Given the description of an element on the screen output the (x, y) to click on. 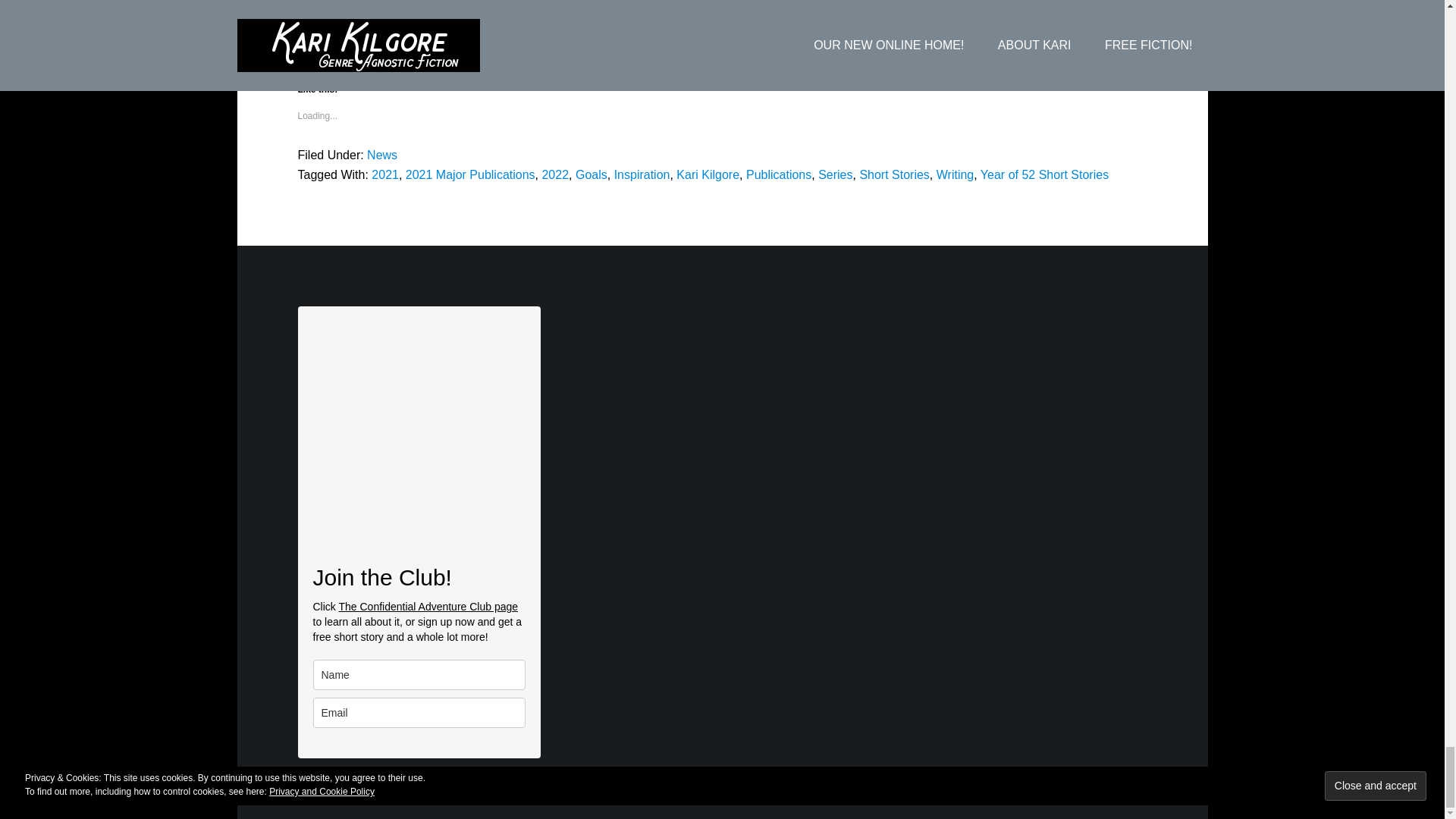
Click to share on Twitter (339, 37)
Click to email a link to a friend (369, 37)
Click to share on Pinterest (400, 37)
Click to share on Facebook (309, 37)
Click to share on Pocket (460, 37)
News (381, 154)
Click to share on WhatsApp (430, 37)
2021 (384, 174)
